Given the description of an element on the screen output the (x, y) to click on. 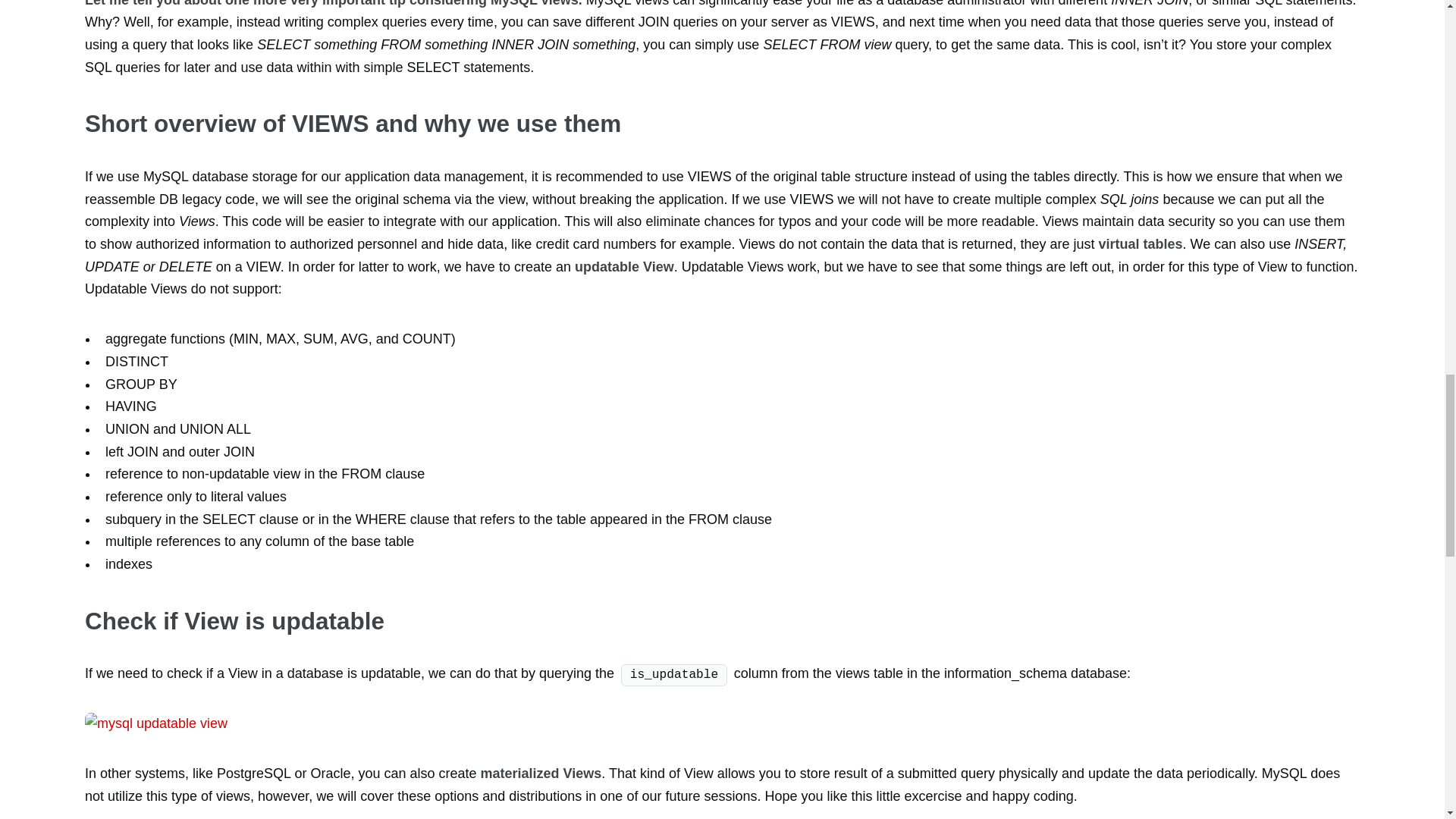
mysql updatable view (319, 723)
